Given the description of an element on the screen output the (x, y) to click on. 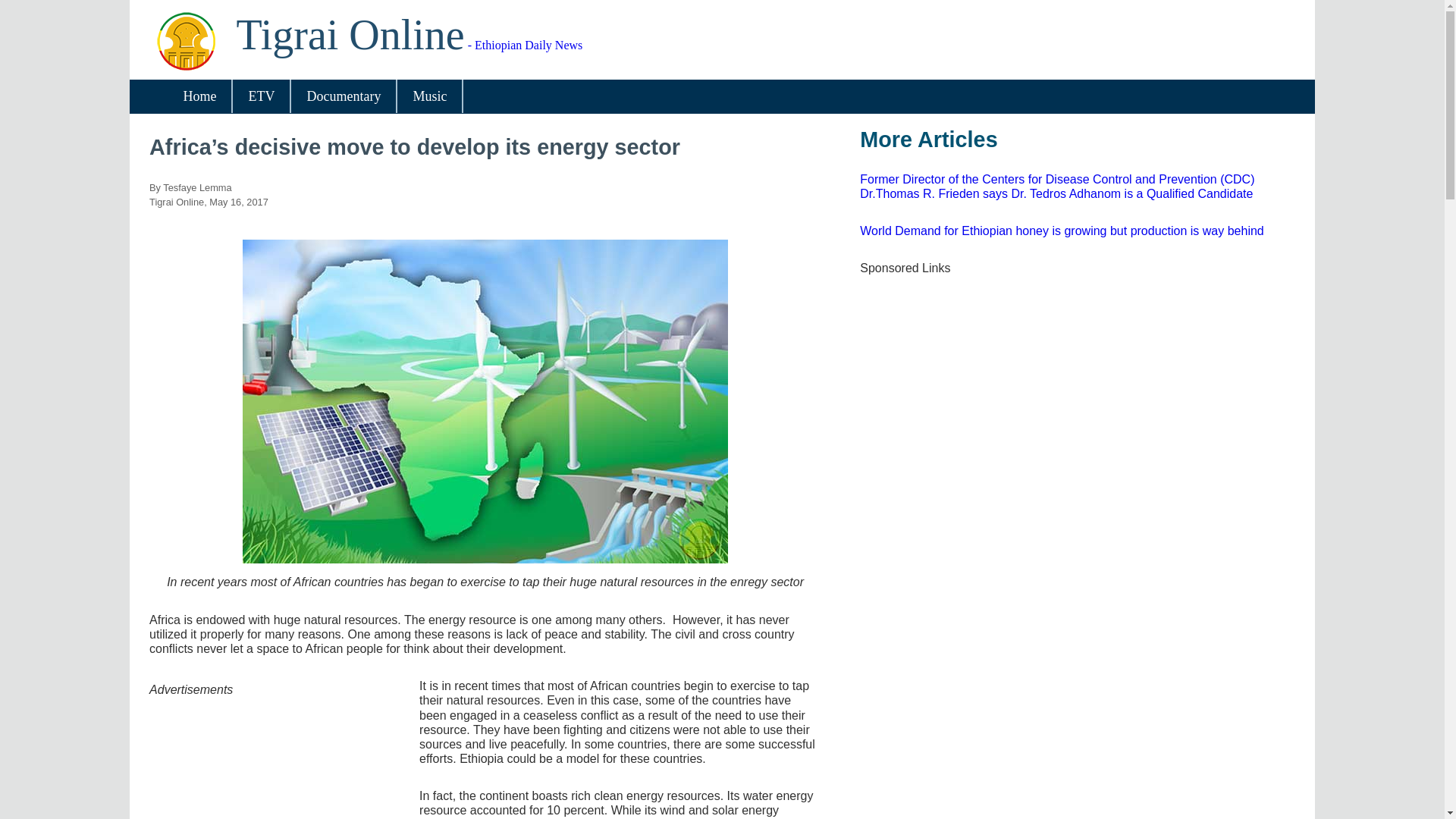
Advertisement (965, 787)
Home (199, 96)
Tigrai Online - Ethiopian Daily News (408, 44)
ETV (260, 96)
Documentary (343, 96)
Music (429, 96)
